Given the description of an element on the screen output the (x, y) to click on. 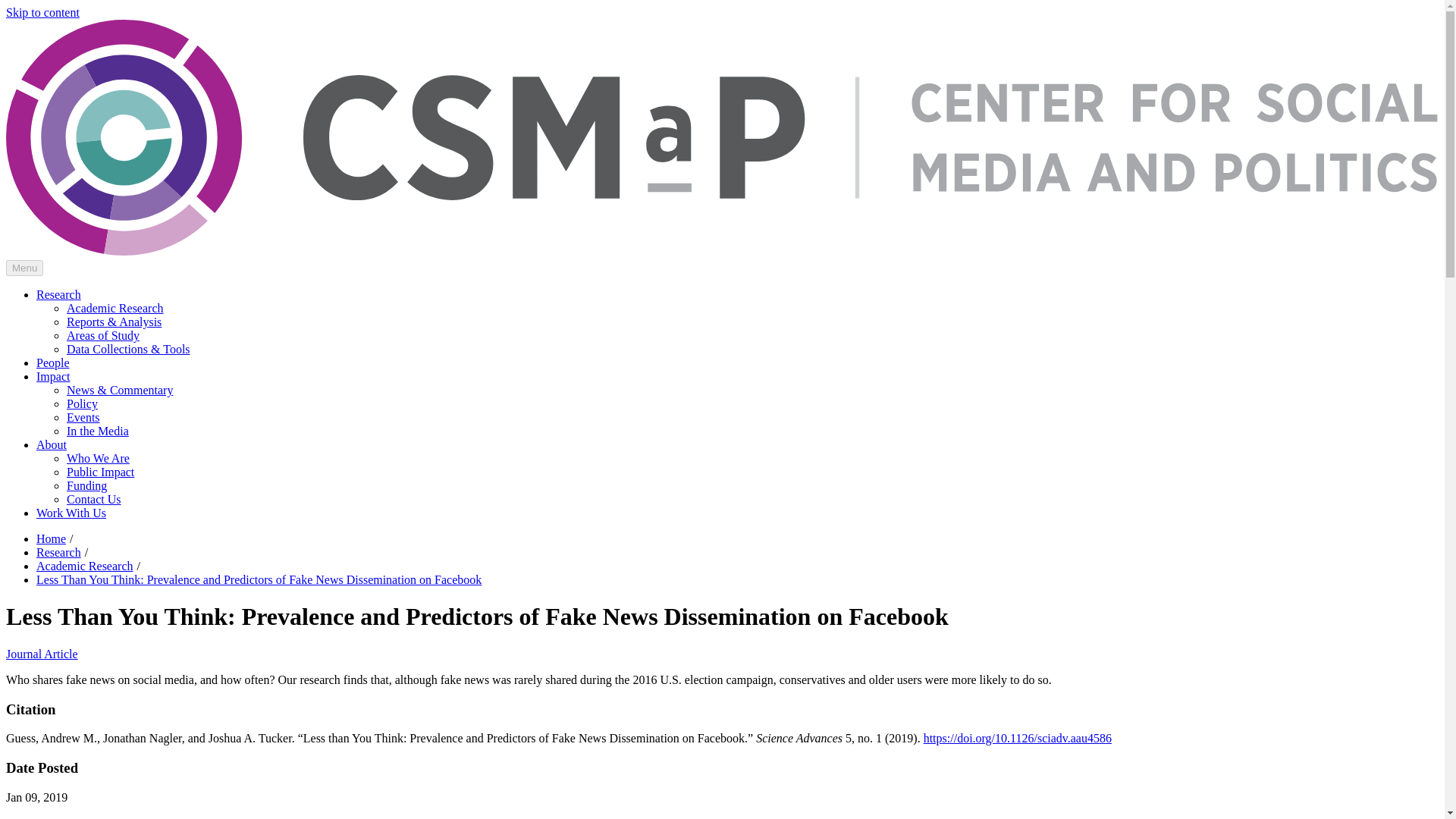
In the Media (97, 431)
Public Impact (99, 472)
Home (50, 538)
Menu (24, 268)
Impact (52, 376)
Who We Are (97, 458)
Research (58, 294)
Research (58, 552)
Academic Research (84, 565)
About (51, 444)
People (52, 362)
Skip to content (42, 11)
Contact Us (93, 499)
Work With Us (71, 512)
Areas of Study (102, 335)
